Given the description of an element on the screen output the (x, y) to click on. 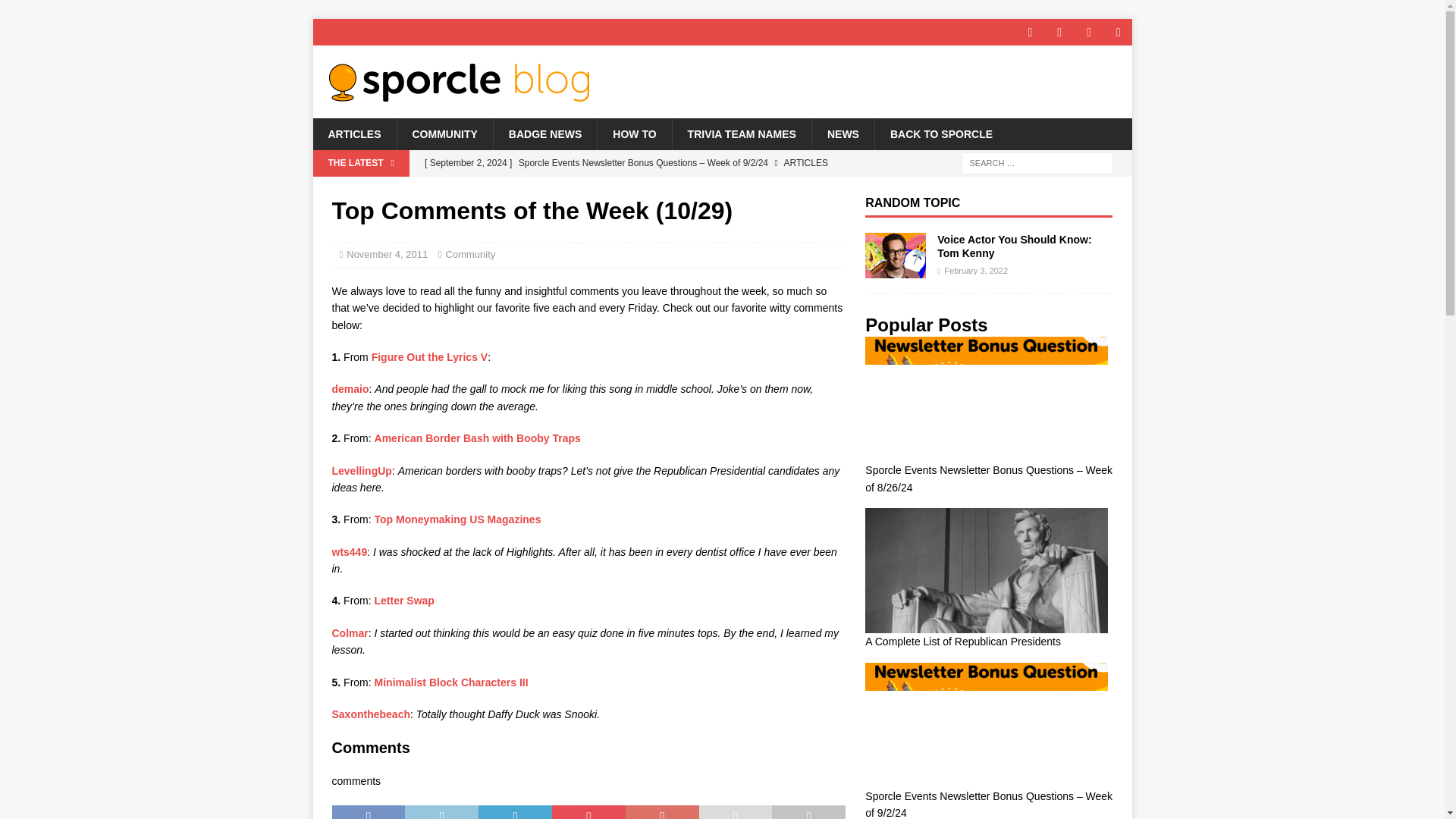
Community (470, 254)
TRIVIA TEAM NAMES (740, 133)
COMMUNITY (444, 133)
American Border Bash with Booby Traps (477, 438)
LevellingUp (361, 470)
Search (56, 11)
BACK TO SPORCLE (941, 133)
NEWS (842, 133)
Minimalist Block Characters III (451, 682)
demaio (350, 388)
